Given the description of an element on the screen output the (x, y) to click on. 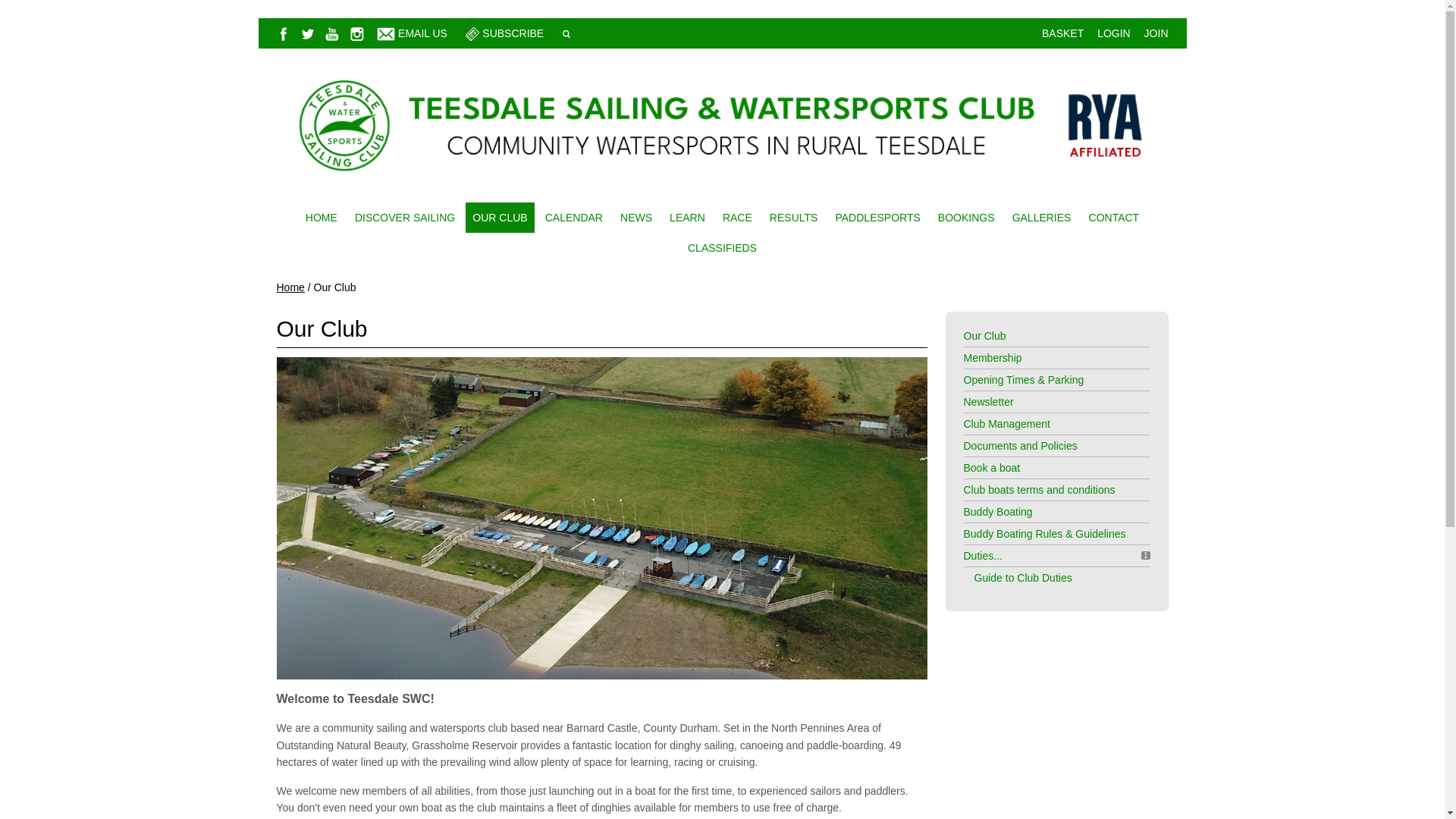
Book a boat (991, 467)
JOIN (1156, 33)
LOGIN (1114, 33)
Our Club (984, 336)
NEWS (635, 217)
CONTACT (1114, 217)
Membership (992, 357)
DISCOVER SAILING (404, 217)
PADDLESPORTS (877, 217)
LEARN (687, 217)
Newsletter (987, 401)
SUBSCRIBE (512, 33)
OUR CLUB (500, 217)
Duties... (981, 555)
Club boats terms and conditions (1038, 490)
